Given the description of an element on the screen output the (x, y) to click on. 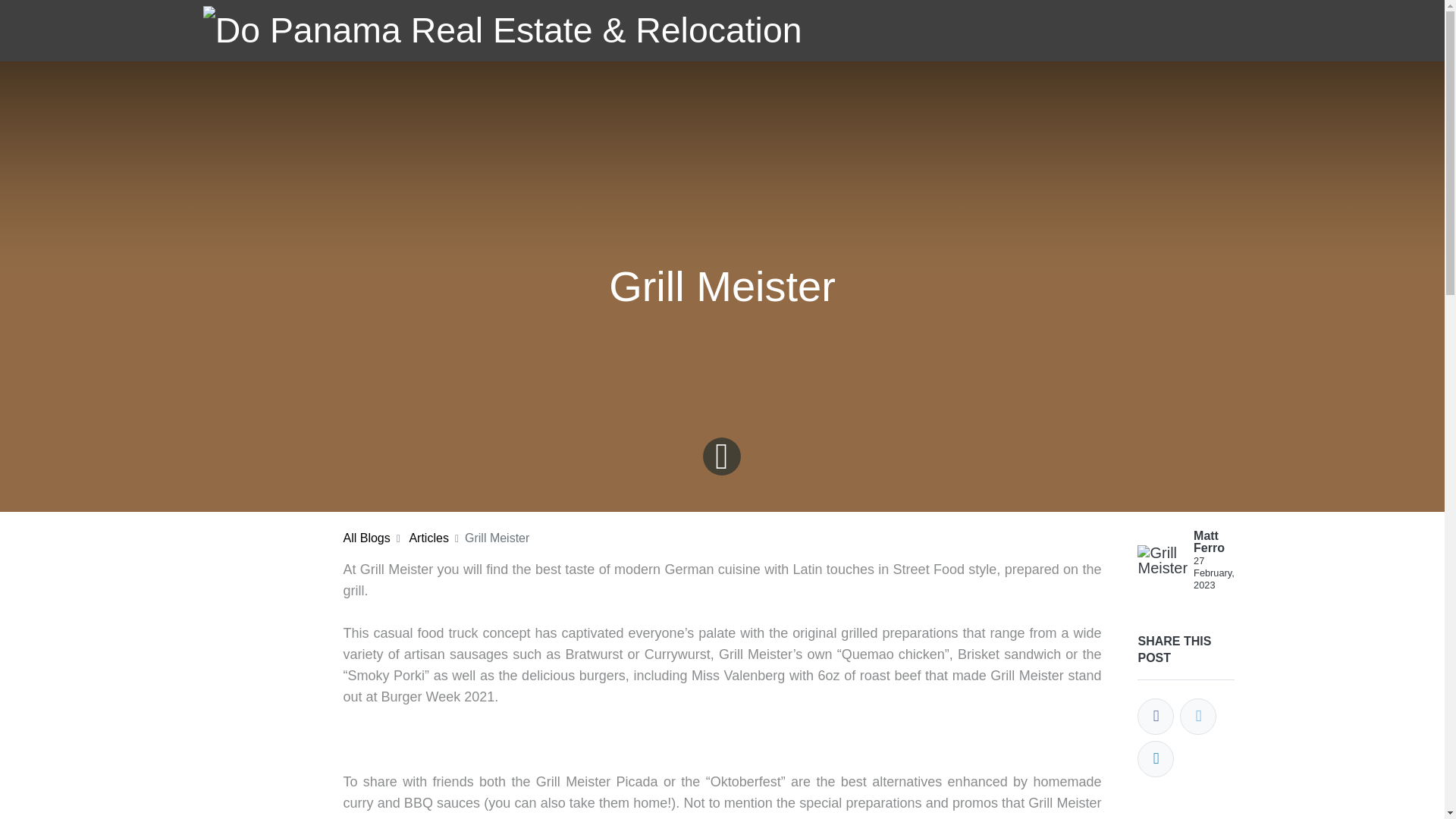
Articles (428, 537)
Share on Twitter (1197, 716)
All Blogs (366, 537)
Share on LinkedIn (1155, 759)
Share on Facebook (1155, 716)
